Given the description of an element on the screen output the (x, y) to click on. 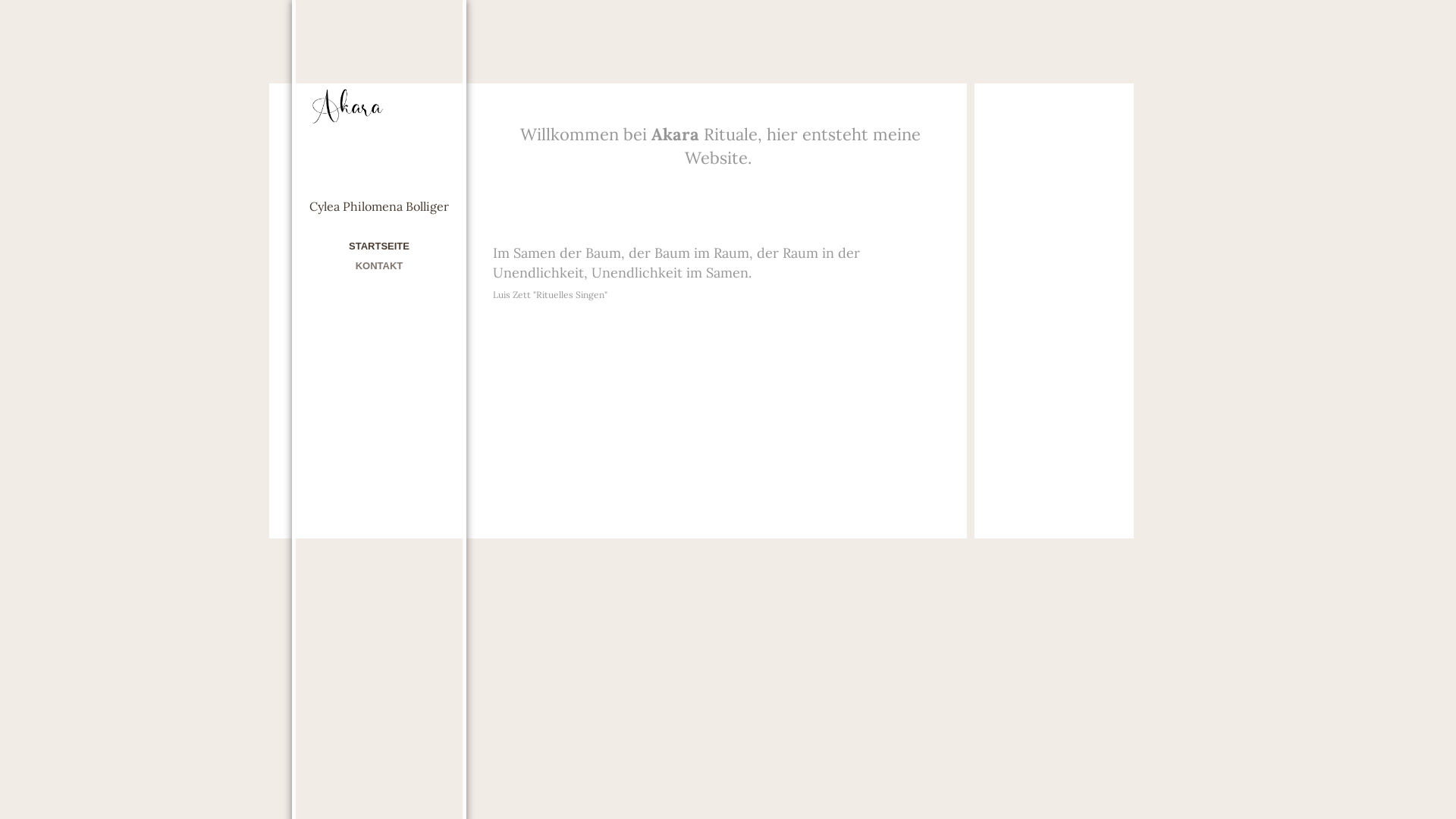
KONTAKT Element type: text (378, 265)
STARTSEITE Element type: text (378, 245)
